Given the description of an element on the screen output the (x, y) to click on. 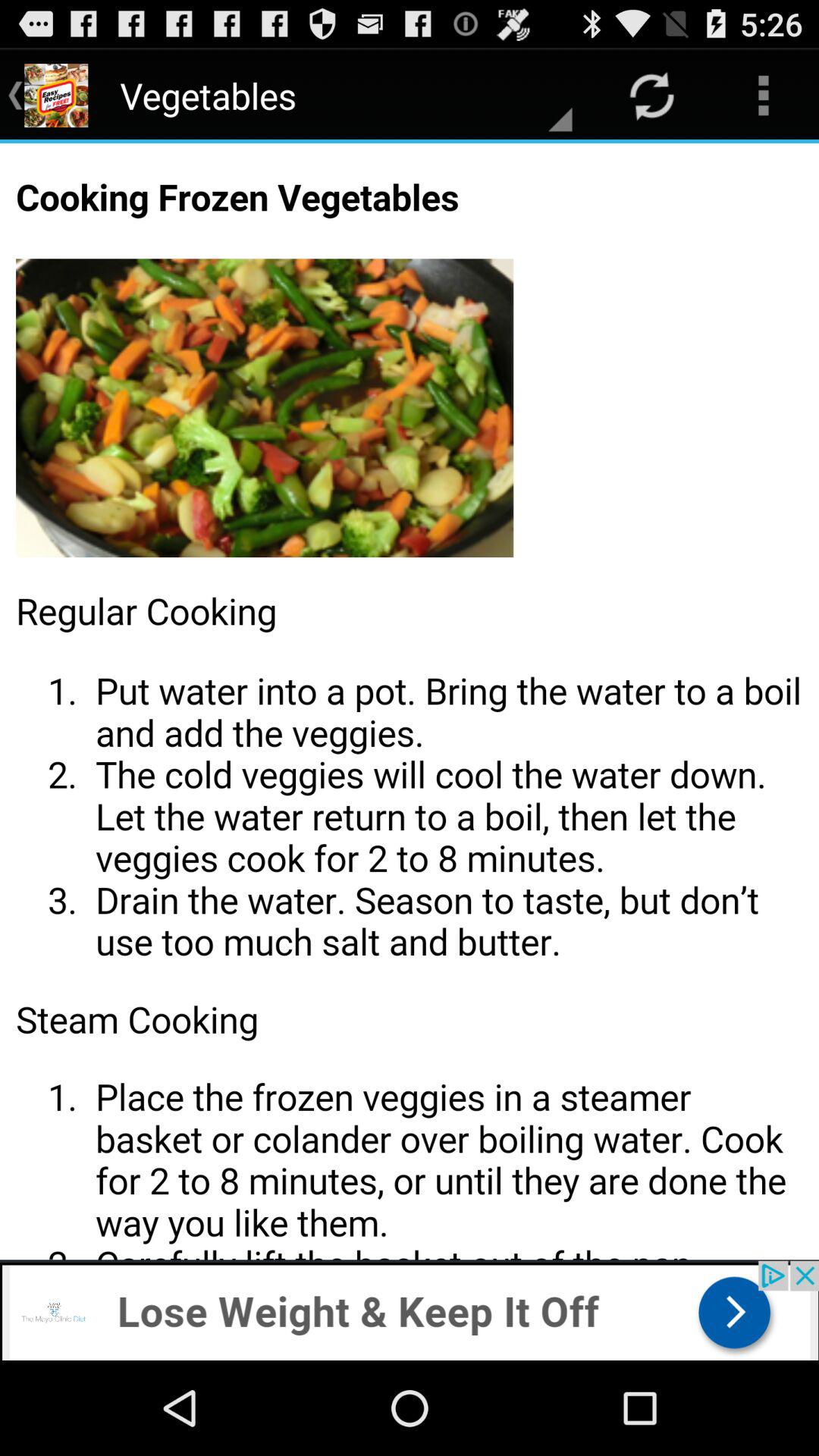
advertisement option (409, 1310)
